Given the description of an element on the screen output the (x, y) to click on. 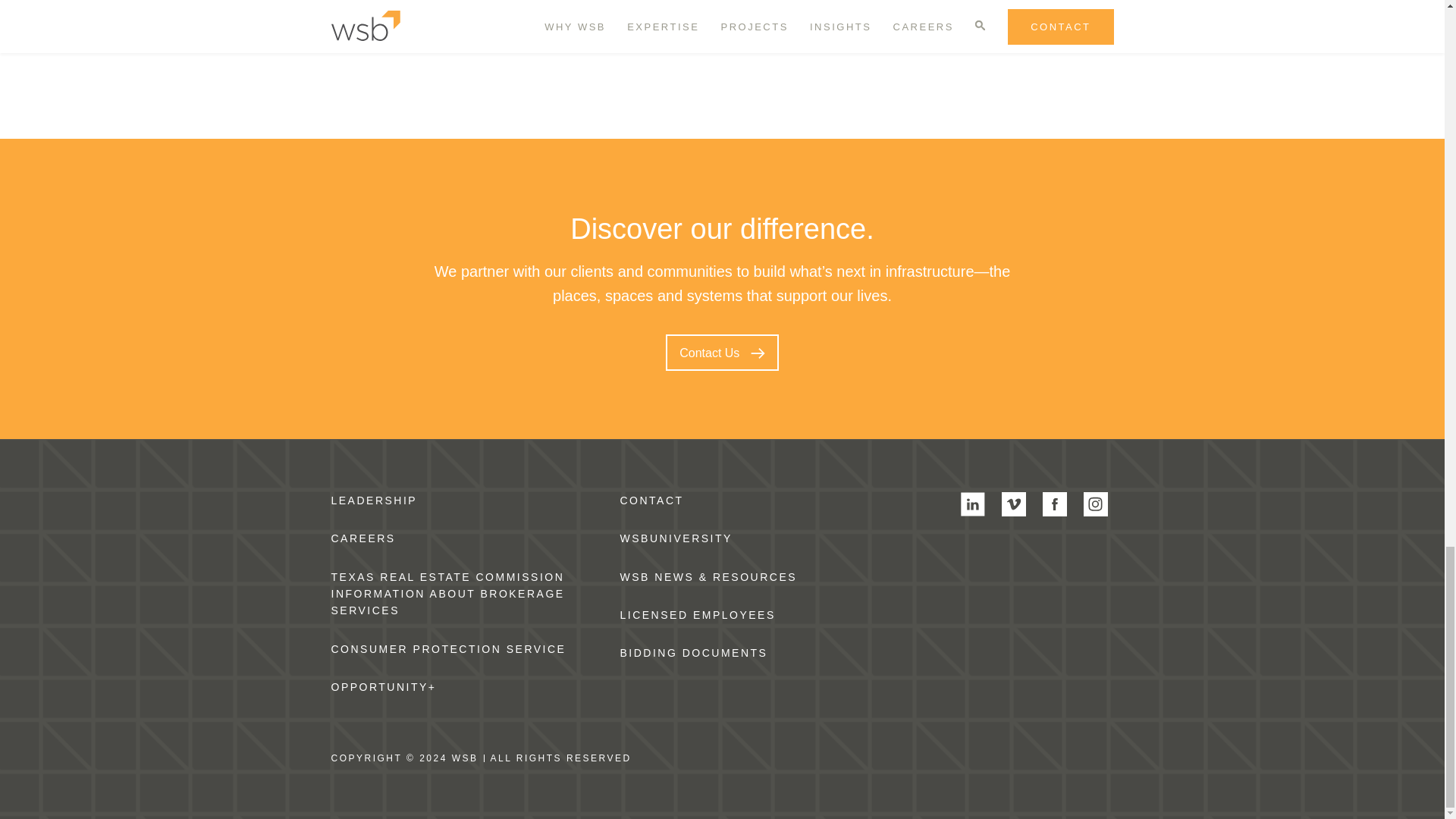
WSBUNIVERSITY (676, 538)
Contact Us (721, 352)
CAREERS (362, 538)
LEADERSHIP (373, 500)
CONSUMER PROTECTION SERVICE (448, 648)
LICENSED EMPLOYEES (698, 614)
CONTACT (652, 500)
BIDDING DOCUMENTS (694, 653)
